Given the description of an element on the screen output the (x, y) to click on. 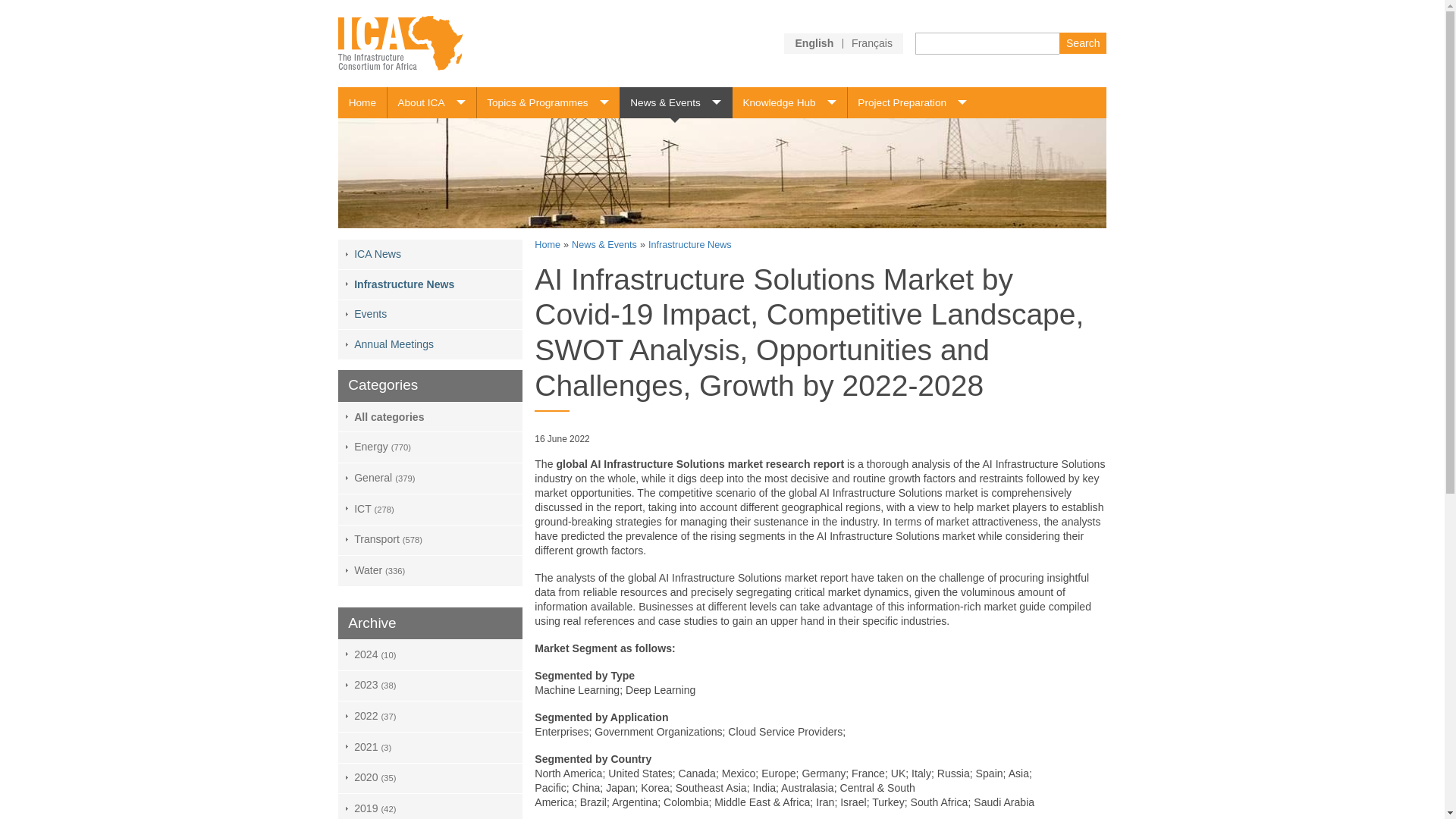
About ICA (431, 101)
Search (1082, 42)
Search (1082, 42)
Article (871, 43)
About ICA (431, 101)
English (813, 43)
Article (813, 43)
Home (362, 101)
ICA - The Infrastructure Consortium for Africa (400, 43)
Home (362, 101)
